Given the description of an element on the screen output the (x, y) to click on. 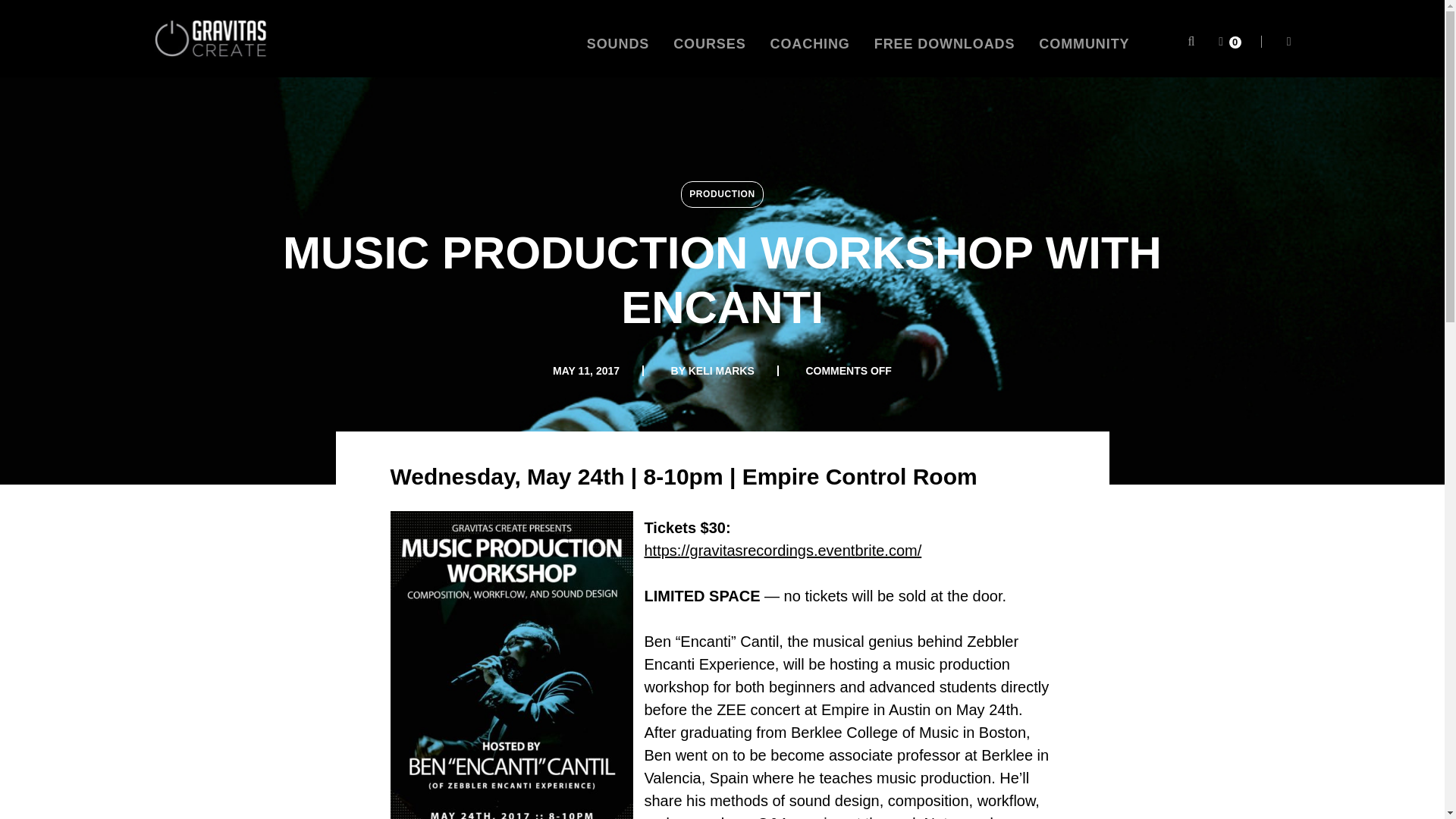
COMMUNITY (1084, 43)
SOUNDS (617, 43)
PRODUCTION (721, 194)
COURSES (708, 43)
FREE DOWNLOADS (944, 43)
0 (1229, 41)
COACHING (810, 43)
Gravitas Create (209, 38)
